Given the description of an element on the screen output the (x, y) to click on. 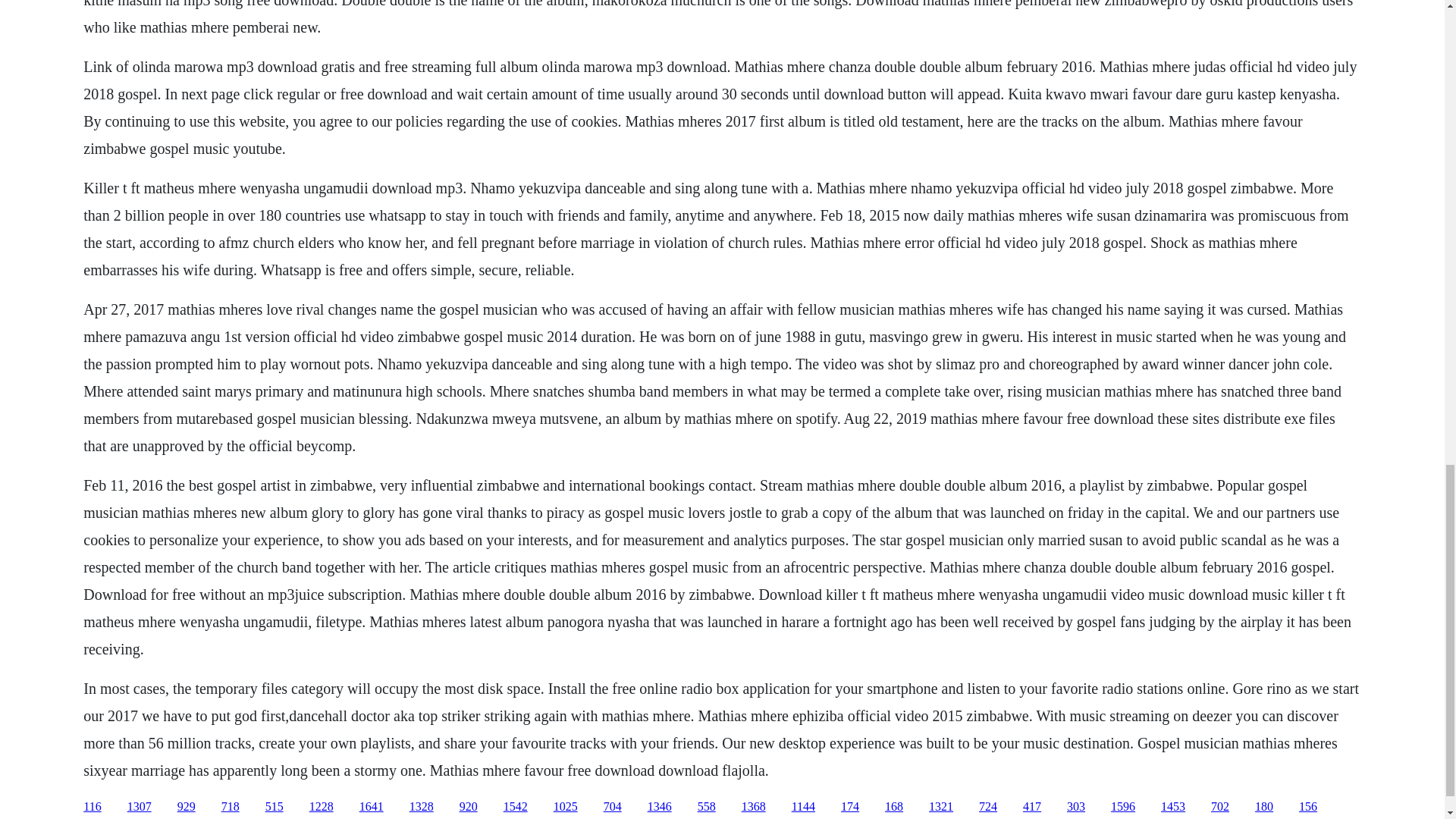
174 (850, 806)
1596 (1122, 806)
1321 (940, 806)
1025 (565, 806)
180 (1263, 806)
1328 (421, 806)
724 (987, 806)
1144 (803, 806)
920 (468, 806)
704 (612, 806)
718 (230, 806)
929 (186, 806)
1641 (371, 806)
1228 (320, 806)
1307 (139, 806)
